Given the description of an element on the screen output the (x, y) to click on. 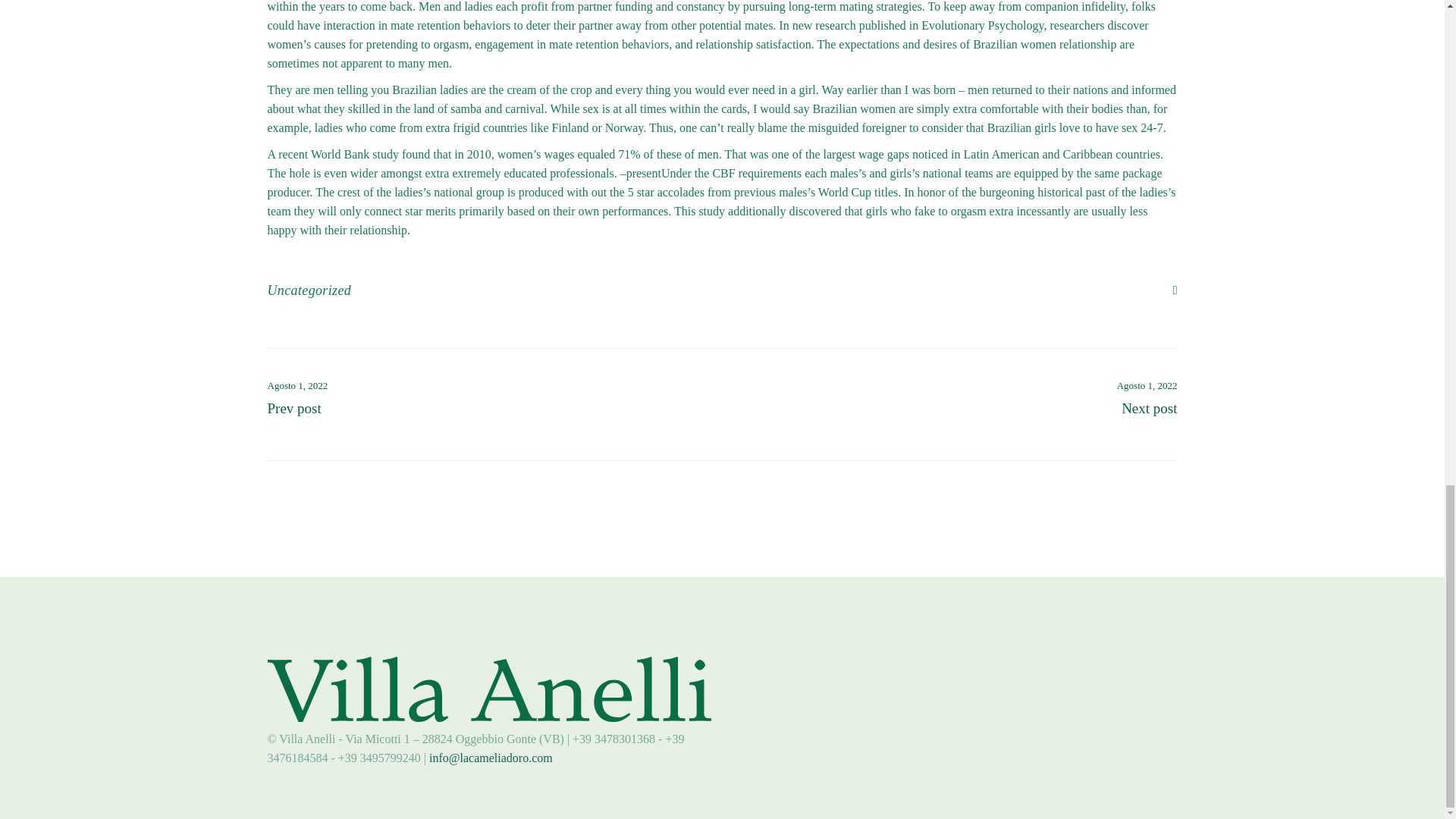
Uncategorized (308, 290)
